Given the description of an element on the screen output the (x, y) to click on. 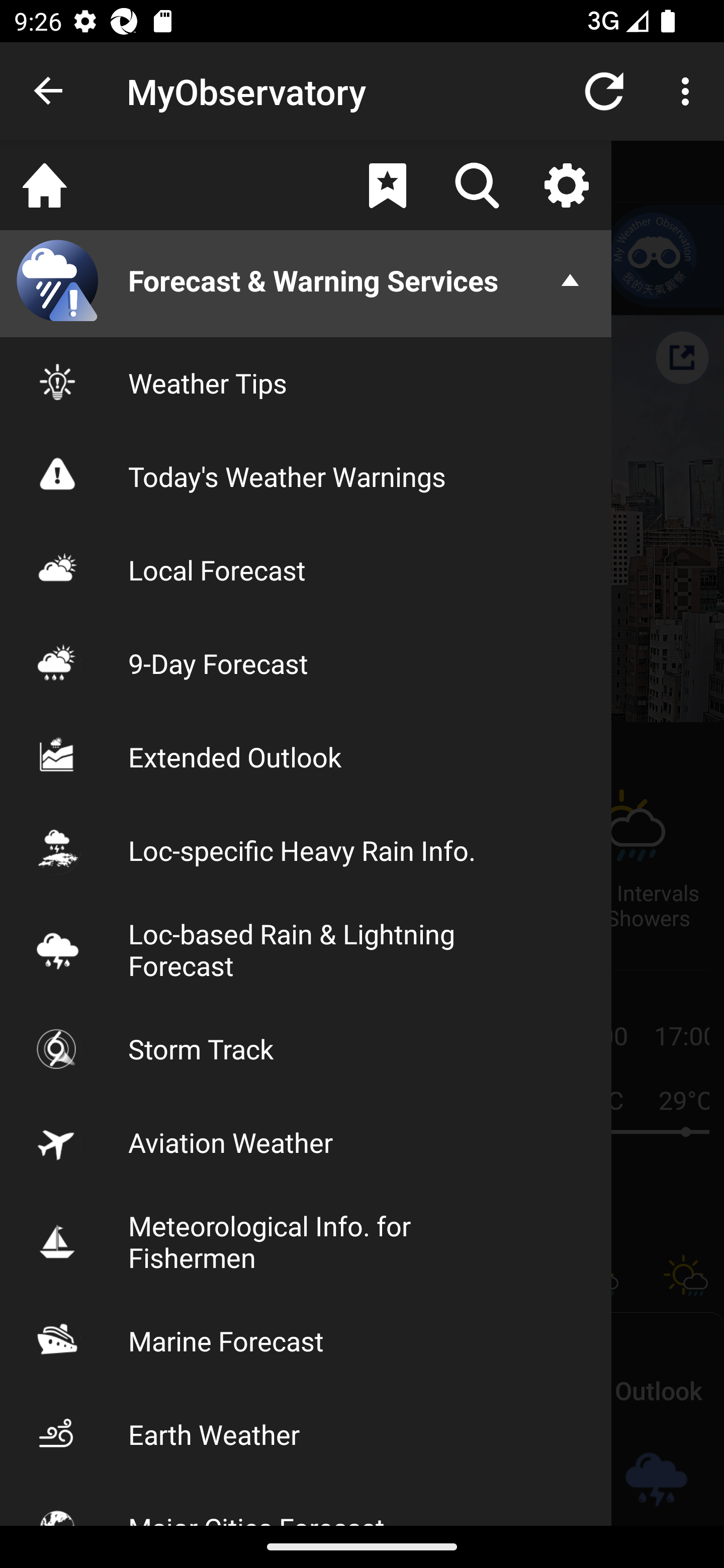
Navigate up (49, 91)
Refresh (604, 90)
More options (688, 90)
Homepage (44, 185)
Bookmark Manager (387, 185)
Search Unselected (477, 185)
Settings (566, 185)
Weather Tips (305, 382)
Today's Weather Warnings (305, 475)
Local Forecast (305, 569)
9-Day Forecast (305, 662)
Extended Outlook (305, 756)
Loc-specific Heavy Rain Info. (305, 850)
Loc-based Rain & Lightning Forecast (305, 949)
Storm Track (305, 1048)
Aviation Weather (305, 1142)
Meteorological Info. for Fishermen (305, 1241)
Marine Forecast (305, 1340)
Earth Weather (305, 1433)
